Given the description of an element on the screen output the (x, y) to click on. 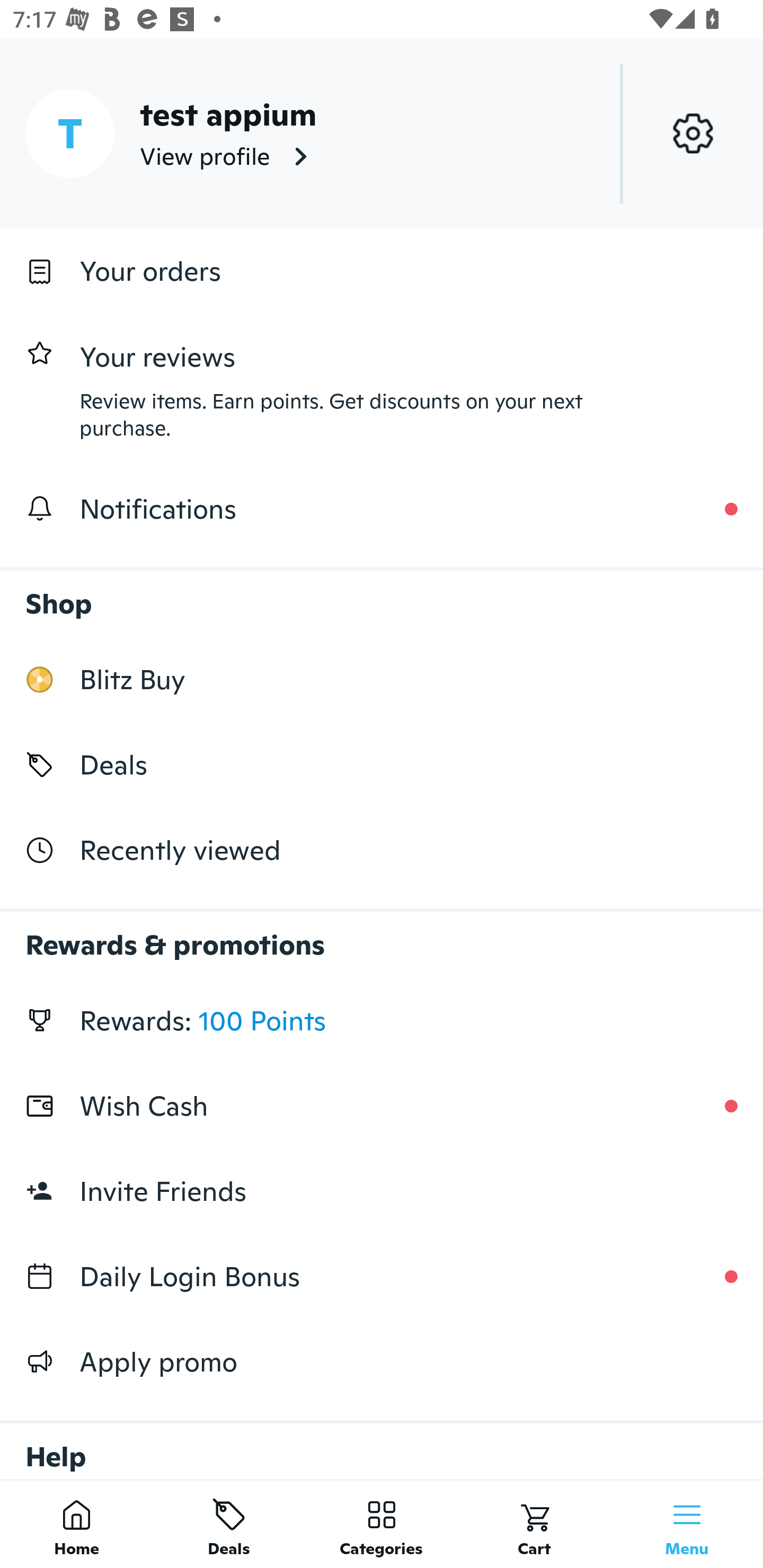
T test appium View profile (381, 132)
Your orders (381, 270)
Notifications (381, 508)
Shop (381, 593)
Blitz Buy (381, 679)
Deals (381, 764)
Recently viewed (381, 850)
Rewards & promotions (381, 935)
Rewards: 100 Points (381, 1020)
Wish Cash (381, 1106)
Invite Friends (381, 1190)
Daily Login Bonus (381, 1277)
Apply promo (381, 1361)
Help (381, 1441)
Home (76, 1523)
Deals (228, 1523)
Categories (381, 1523)
Cart (533, 1523)
Menu (686, 1523)
